Given the description of an element on the screen output the (x, y) to click on. 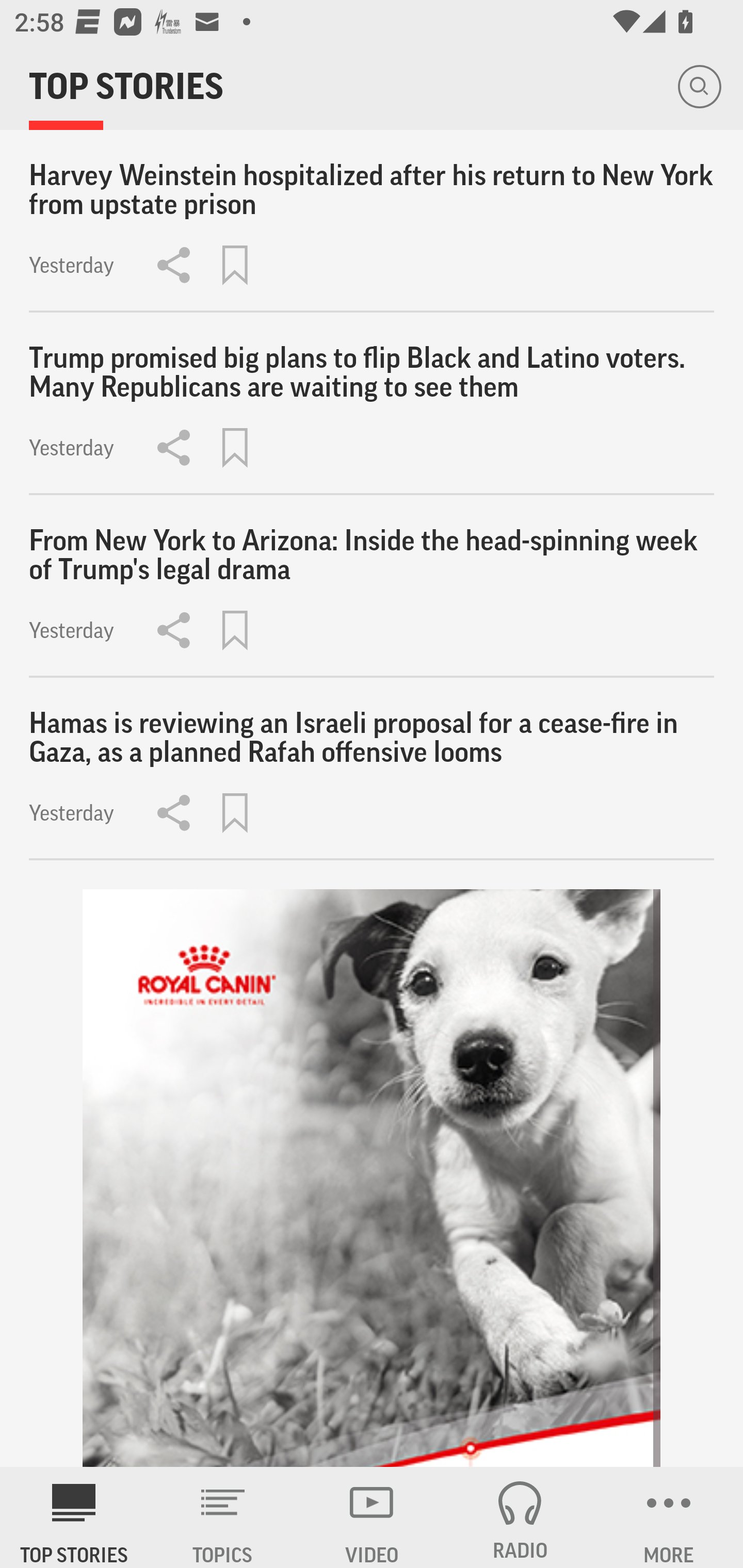
314l1s1f_320x480 (371, 1178)
AP News TOP STORIES (74, 1517)
TOPICS (222, 1517)
VIDEO (371, 1517)
RADIO (519, 1517)
MORE (668, 1517)
